Given the description of an element on the screen output the (x, y) to click on. 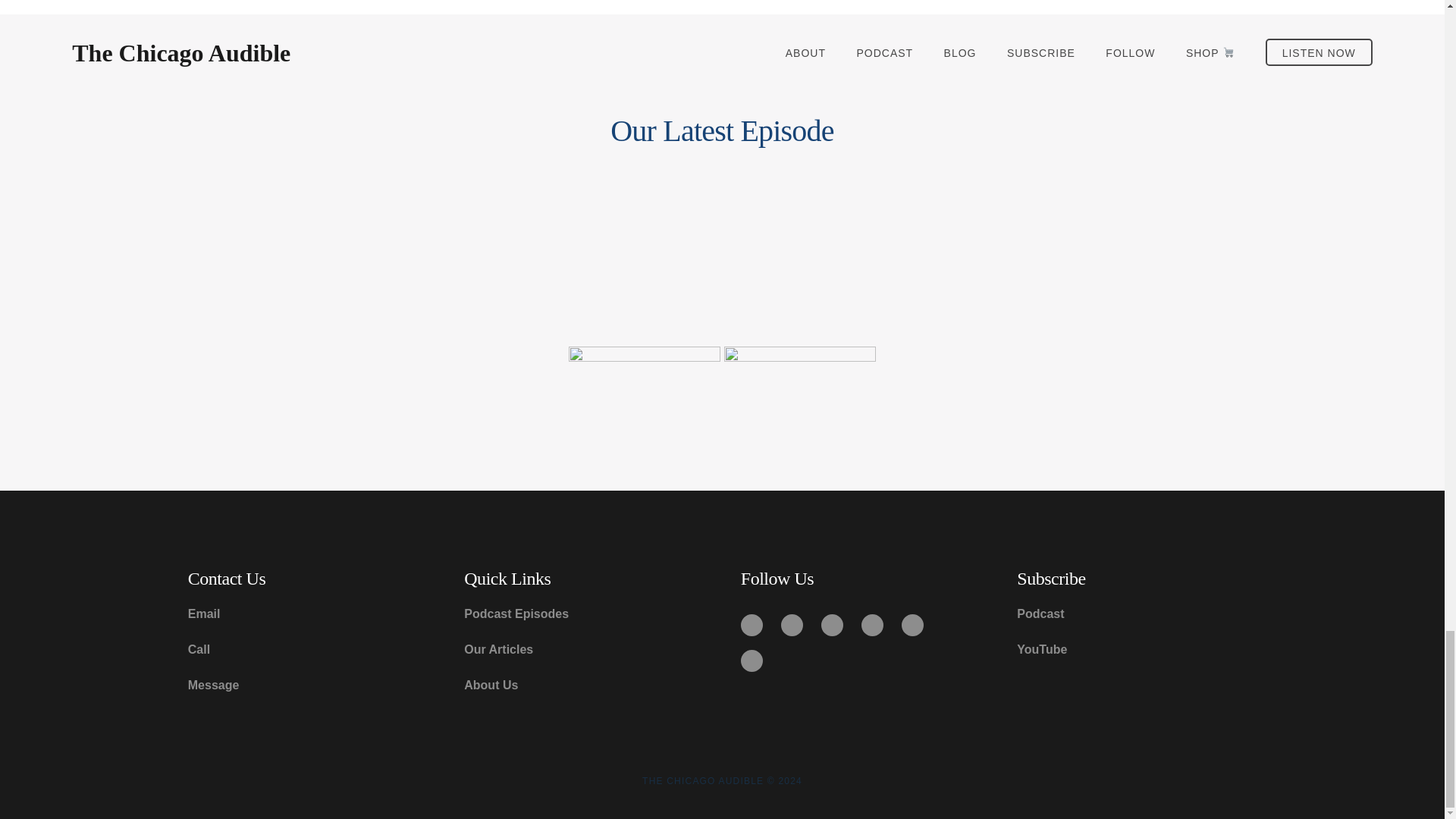
YouTube video player (1097, 244)
